Given the description of an element on the screen output the (x, y) to click on. 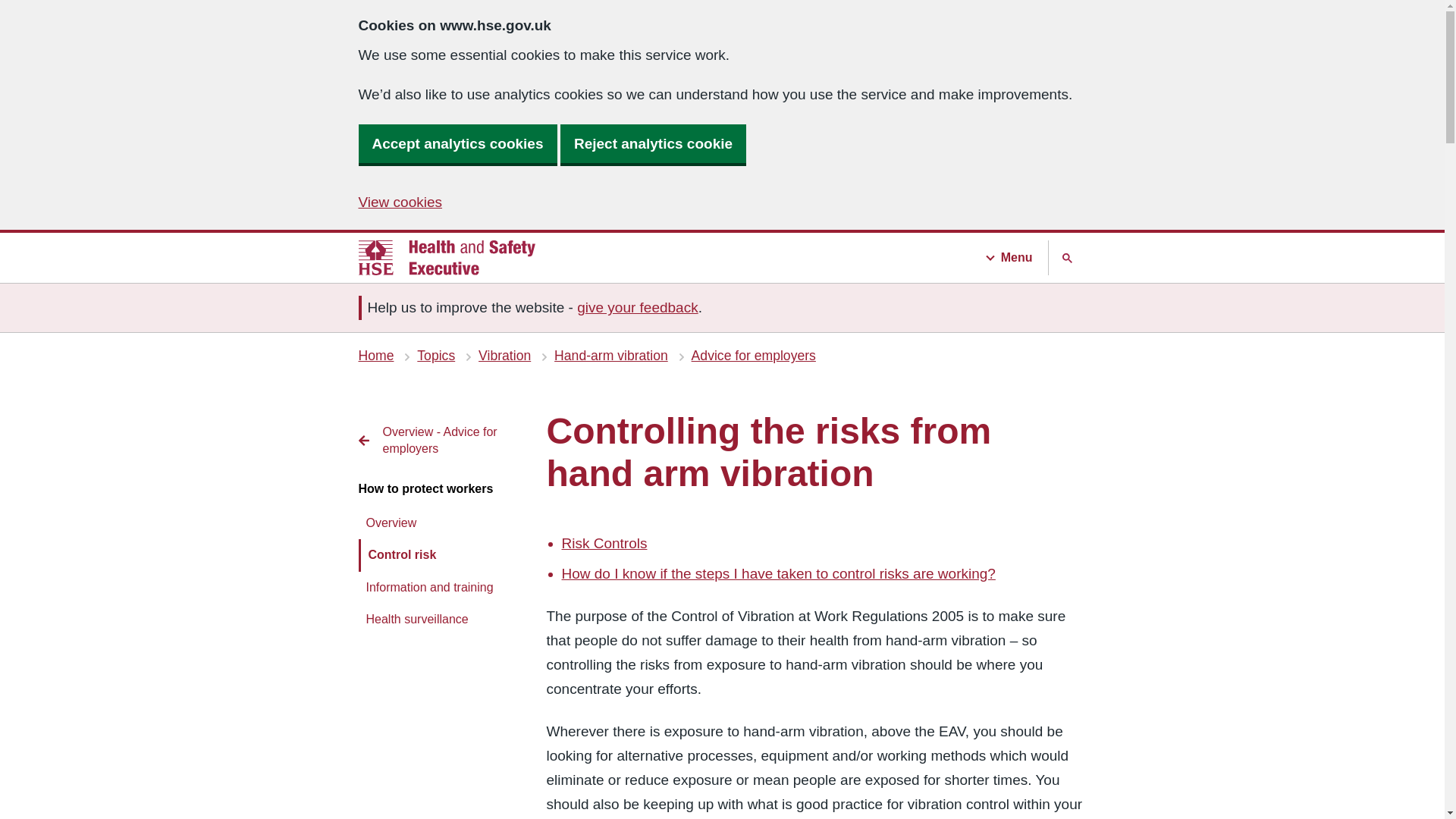
Vibration (505, 355)
Reject analytics cookie (652, 143)
View cookies (400, 201)
search (1066, 257)
give your feedback (637, 307)
Home (375, 355)
Menu (1014, 257)
Topics (435, 355)
Accept analytics cookies (457, 143)
Skip to content (439, 440)
search (30, 9)
